Given the description of an element on the screen output the (x, y) to click on. 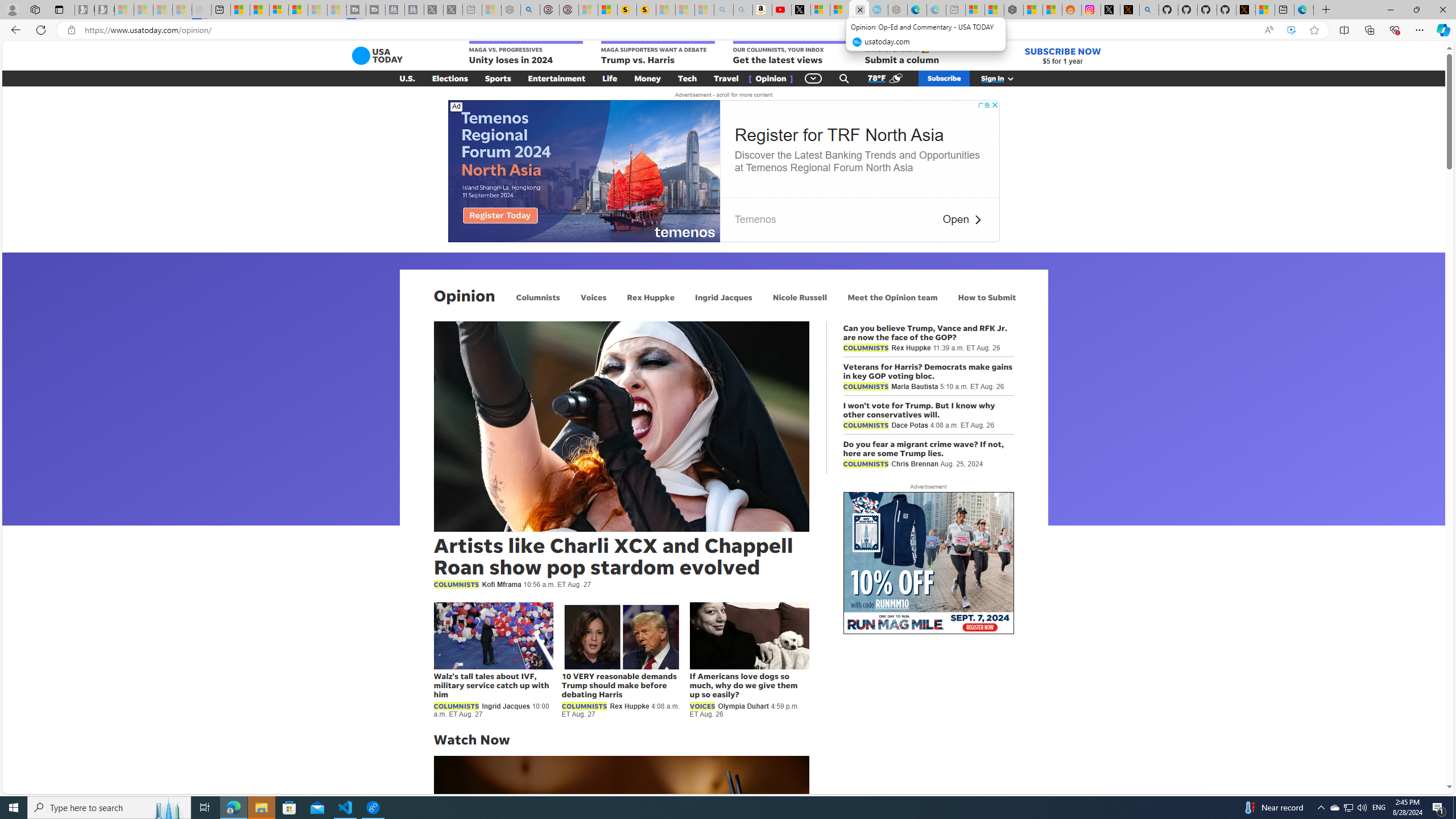
Browser essentials (1394, 29)
U.S. (406, 78)
Money (647, 78)
amazon - Search - Sleeping (723, 9)
Collections (1369, 29)
Minimize (1390, 9)
Class: gnt_n_se_a_svg (844, 78)
Overview (279, 9)
poe - Search (529, 9)
Meet the Opinion team (892, 296)
